Given the description of an element on the screen output the (x, y) to click on. 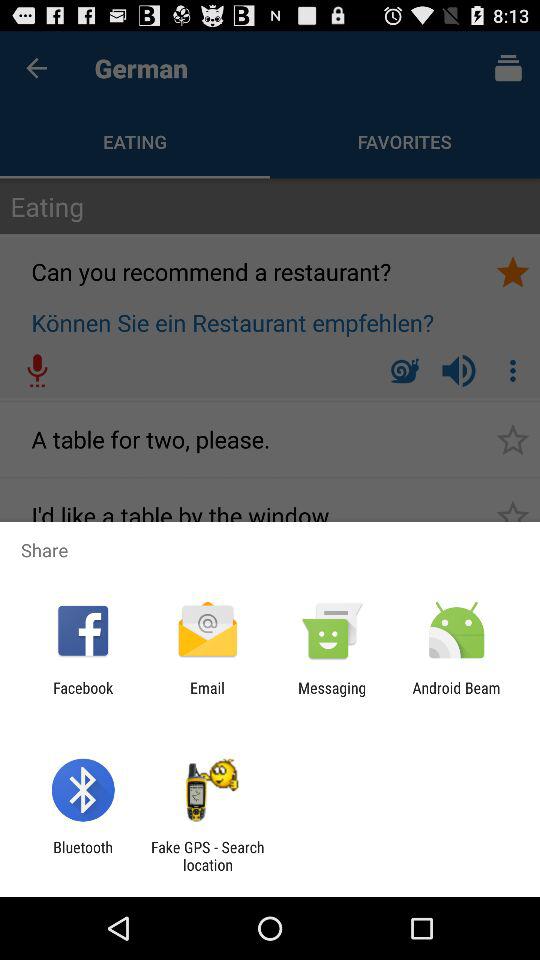
swipe until bluetooth app (82, 856)
